Given the description of an element on the screen output the (x, y) to click on. 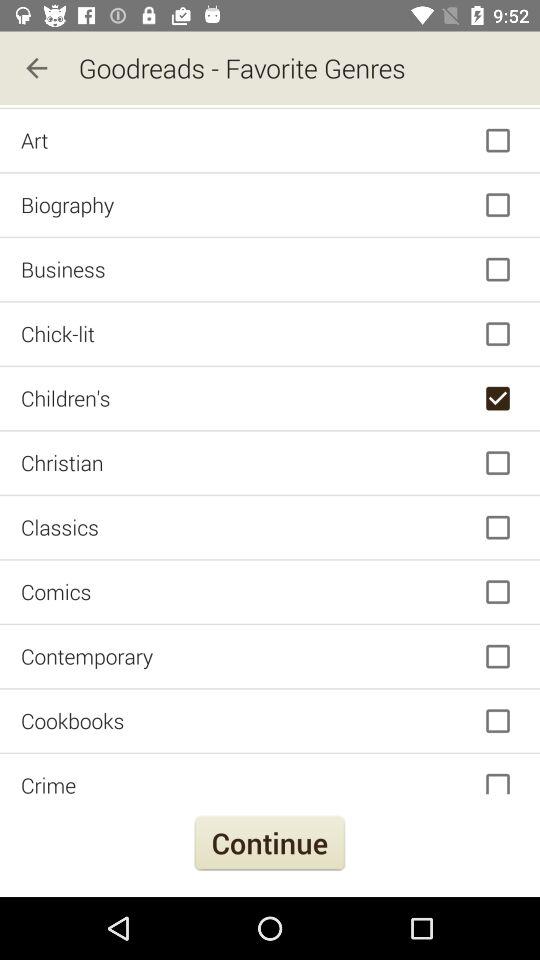
select the icon next to the goodreads - favorite genres (36, 68)
